Given the description of an element on the screen output the (x, y) to click on. 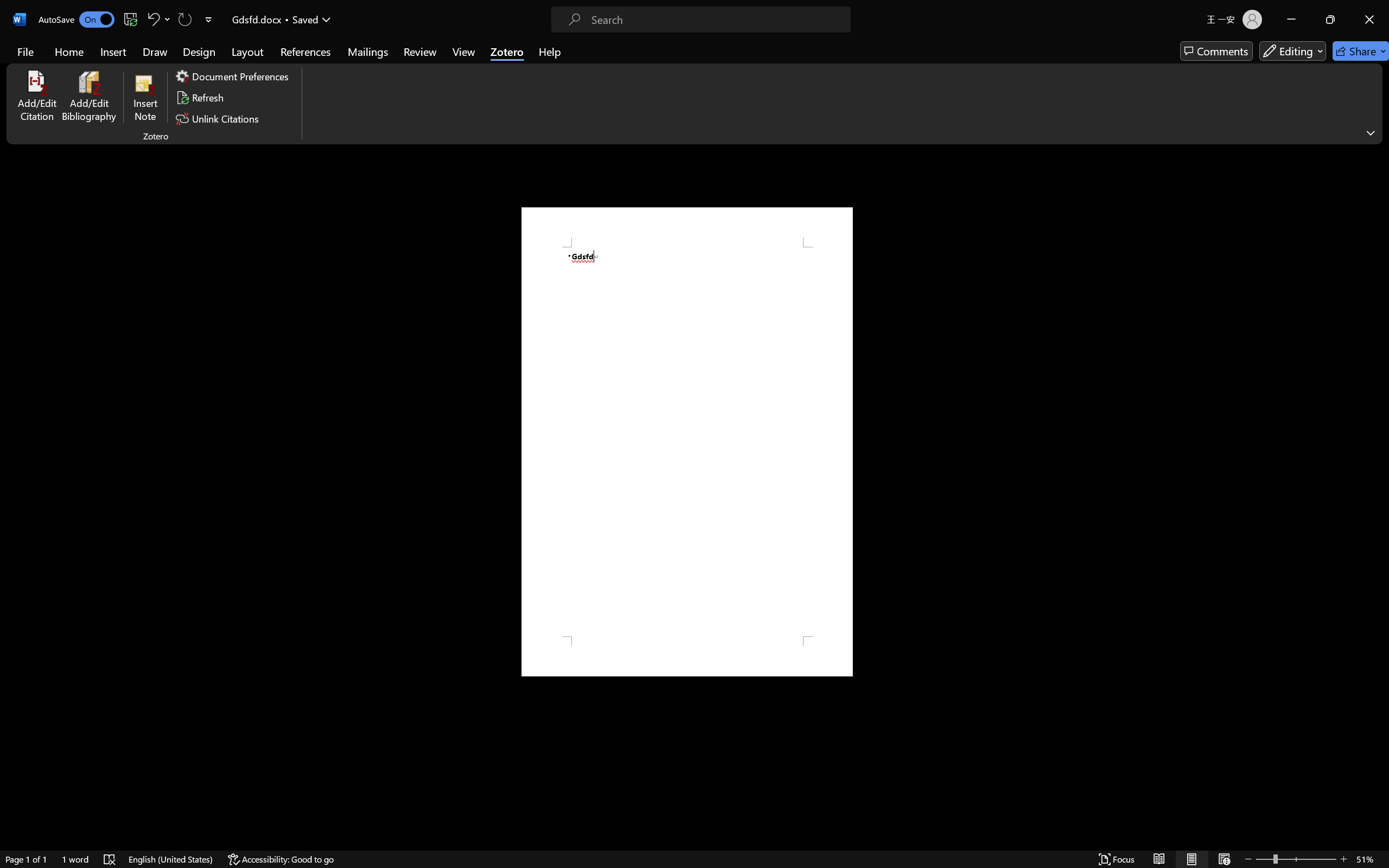
Page 1 content (686, 441)
